Given the description of an element on the screen output the (x, y) to click on. 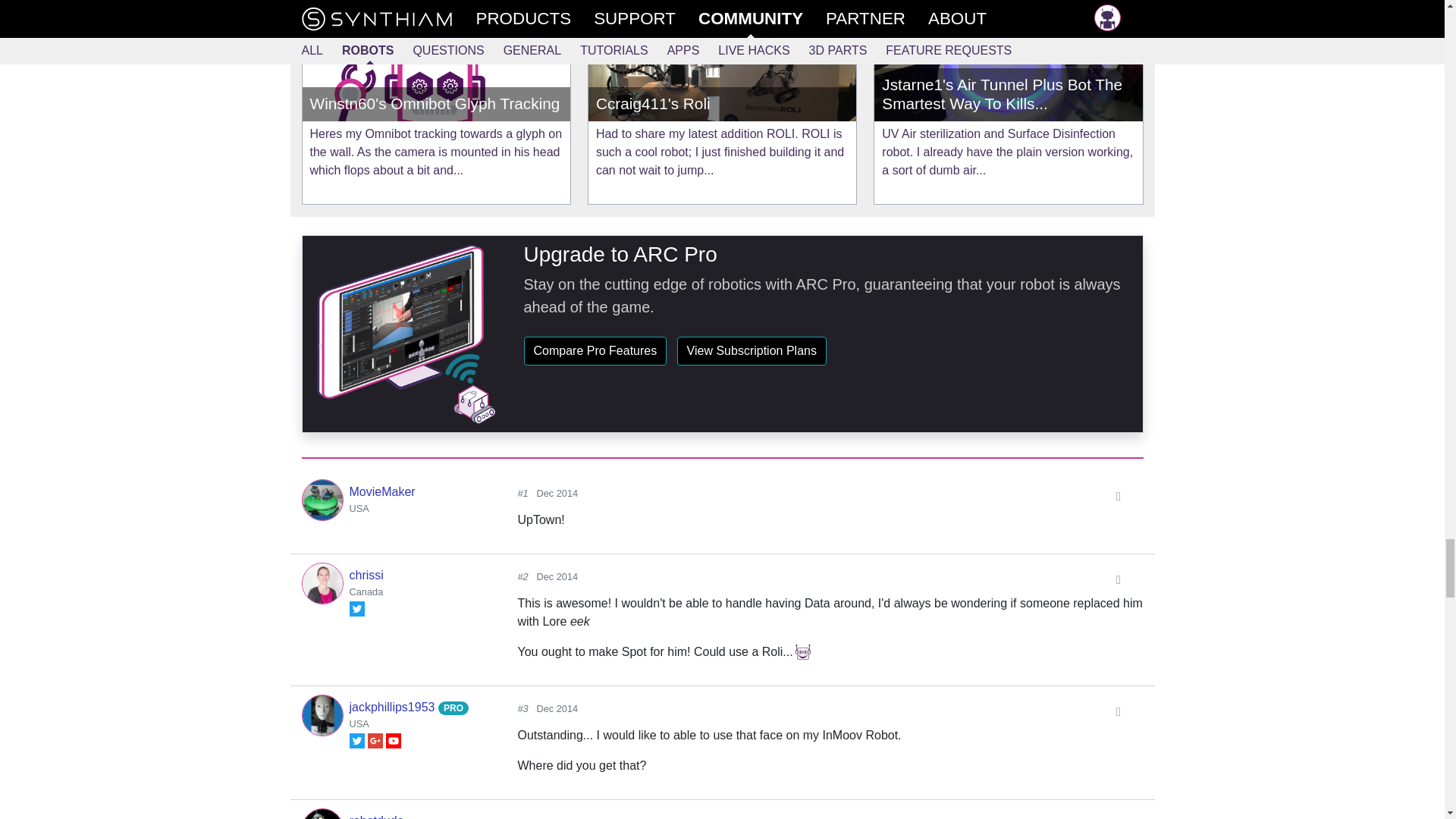
2014-12-10 14:02 UTC (556, 708)
2014-12-10 13:15 UTC (556, 492)
Compare Pro Features (594, 350)
2014-12-10 14:32 UTC (556, 817)
2014-12-10 13:25 UTC (556, 576)
